Given the description of an element on the screen output the (x, y) to click on. 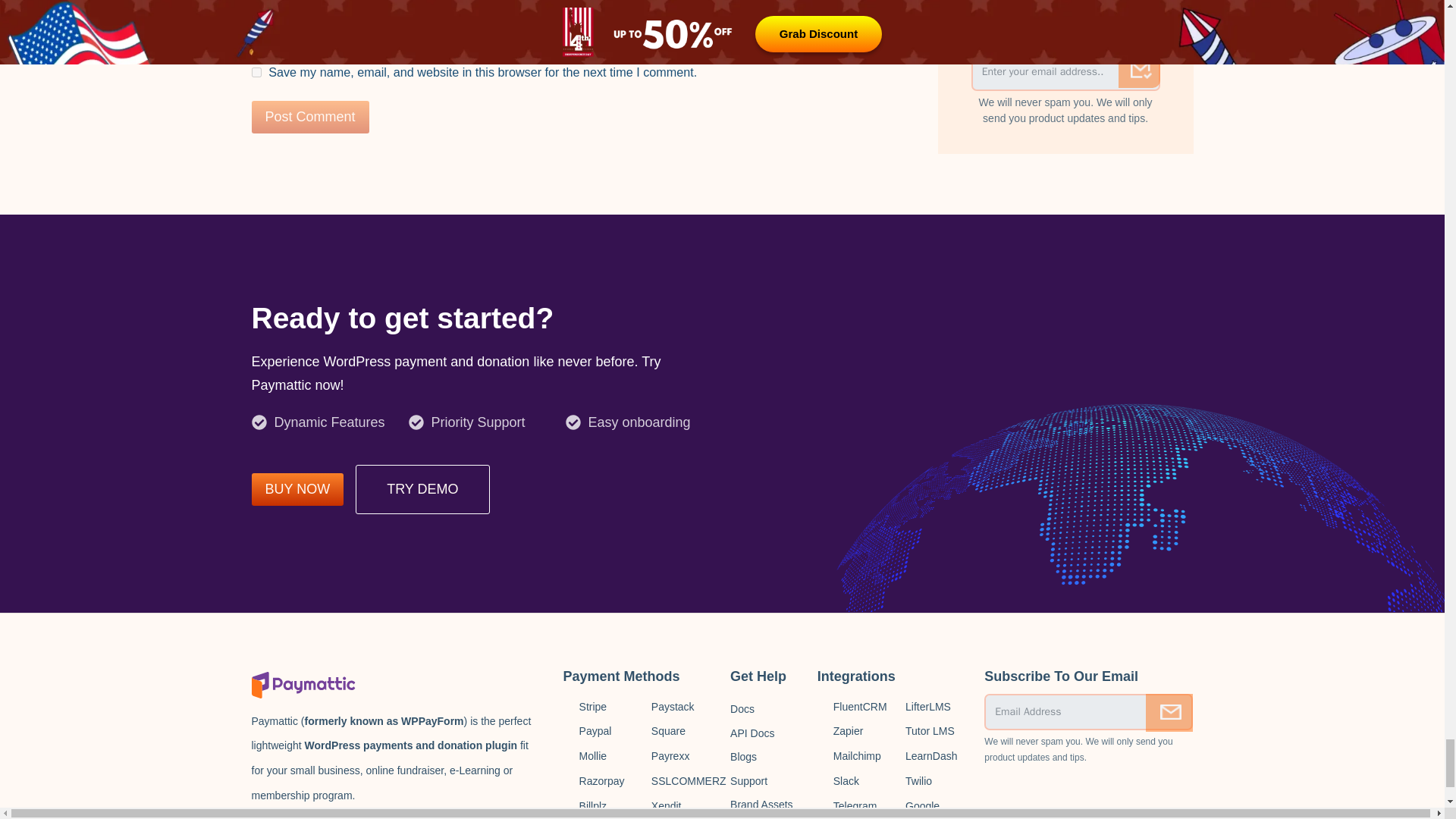
yes (256, 71)
Post Comment (310, 116)
